Given the description of an element on the screen output the (x, y) to click on. 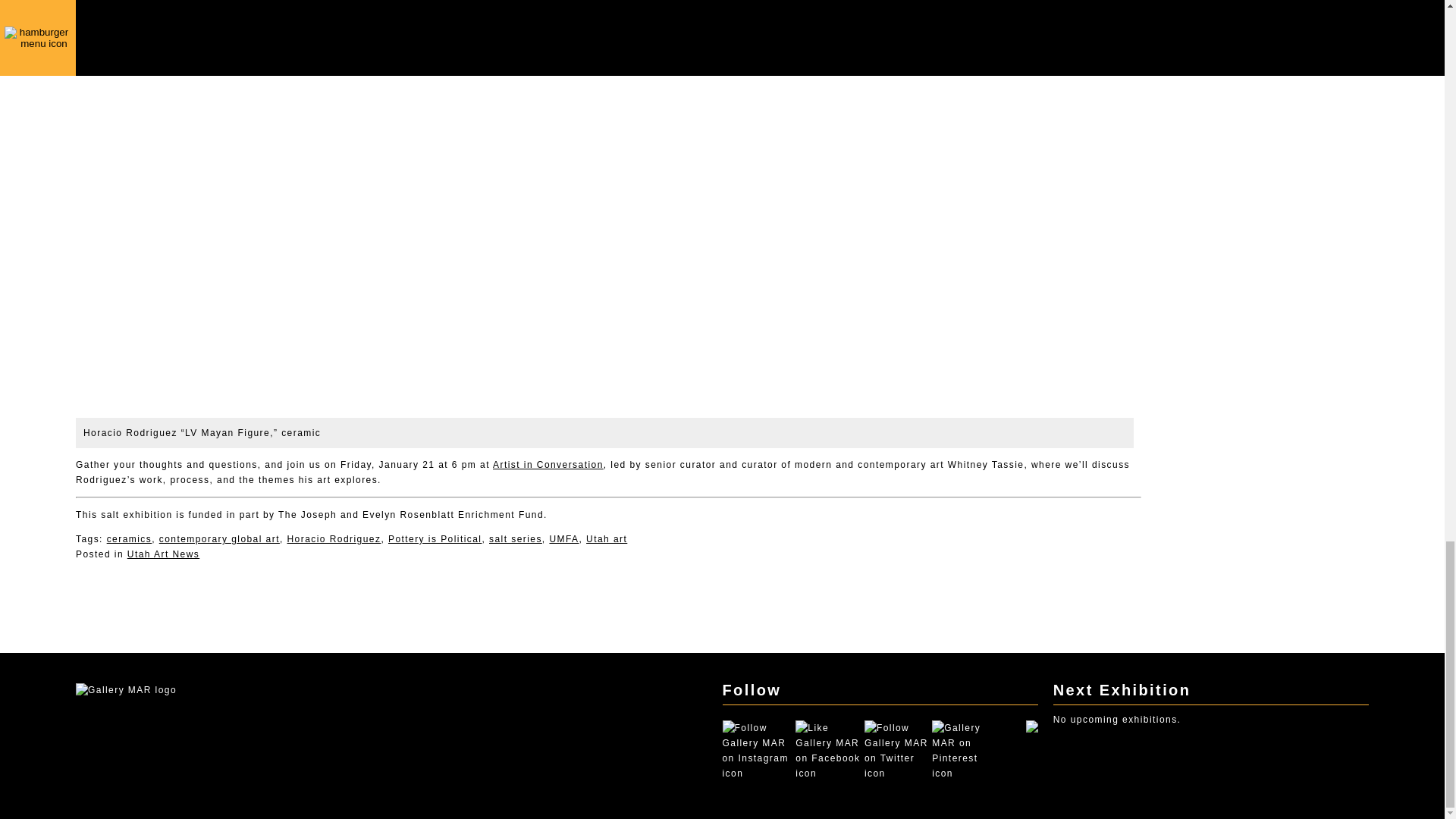
Utah art (606, 538)
Pottery is Political (434, 538)
Horacio Rodriguez (333, 538)
ceramics (129, 538)
contemporary global art (218, 538)
UMFA (563, 538)
salt series (515, 538)
Artist in Conversation (548, 464)
Utah Art News (163, 553)
